Given the description of an element on the screen output the (x, y) to click on. 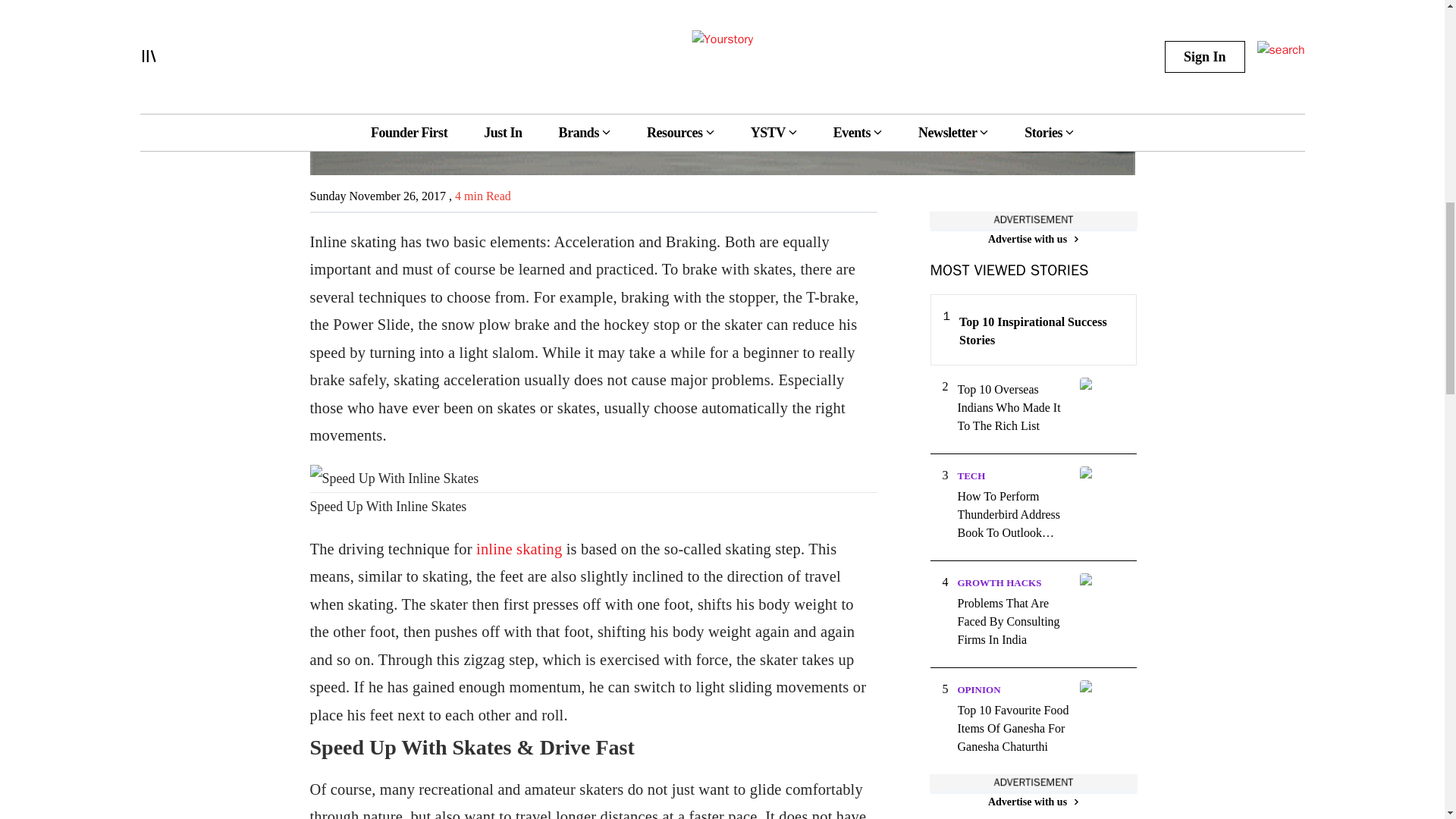
inline skating (519, 548)
OPINION (978, 689)
Advertise with us (1032, 801)
Problems That Are Faced By Consulting Firms In India (1013, 621)
TECH (970, 475)
Top 10 Overseas Indians Who Made It To The Rich List (1013, 407)
GROWTH HACKS (998, 582)
Top 10 Favourite Food Items Of Ganesha For Ganesha Chaturthi (1013, 728)
Top 10 Inspirational Success Stories (1040, 330)
Advertise with us (1032, 238)
